Given the description of an element on the screen output the (x, y) to click on. 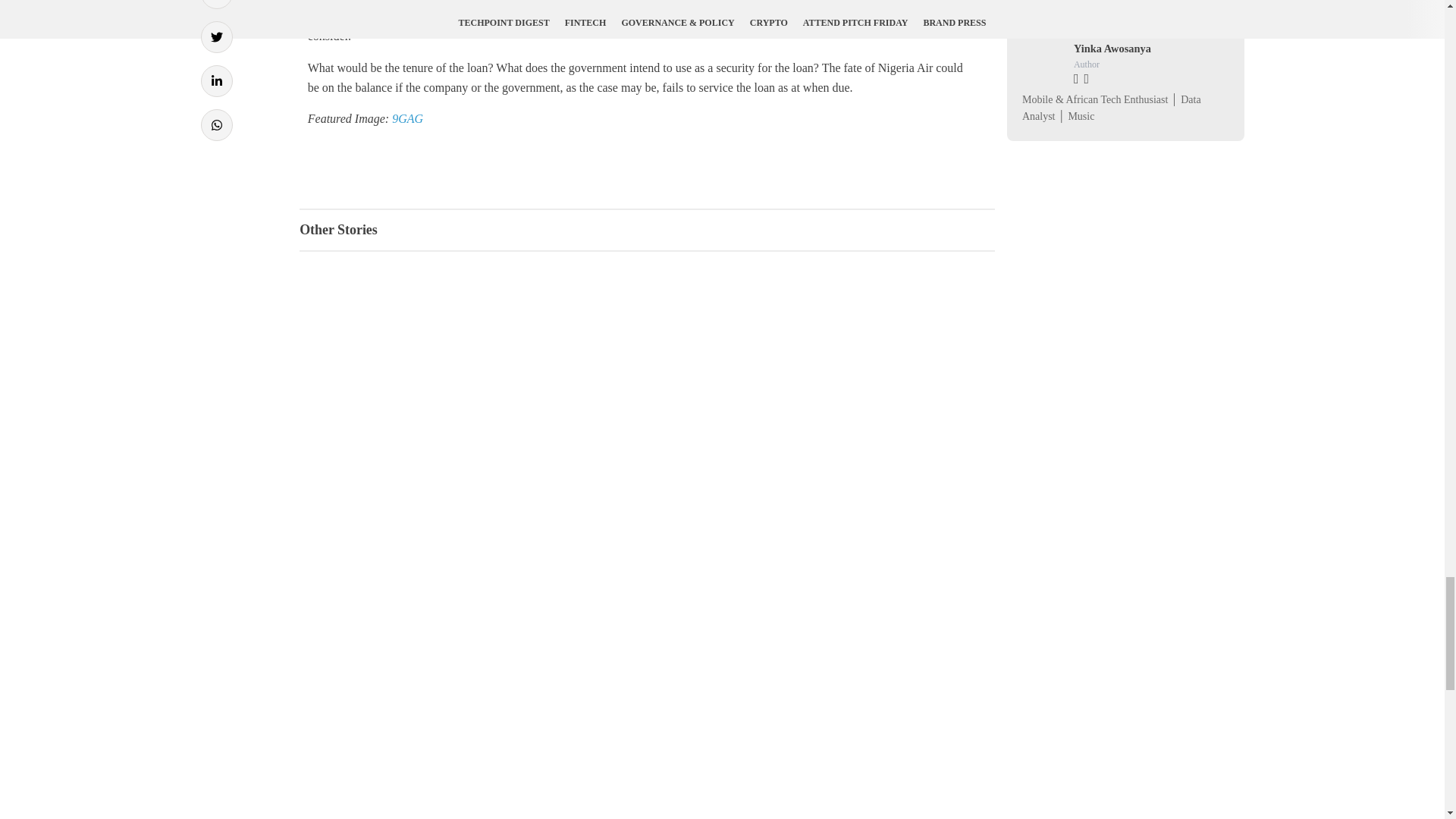
9GAG (407, 118)
